Given the description of an element on the screen output the (x, y) to click on. 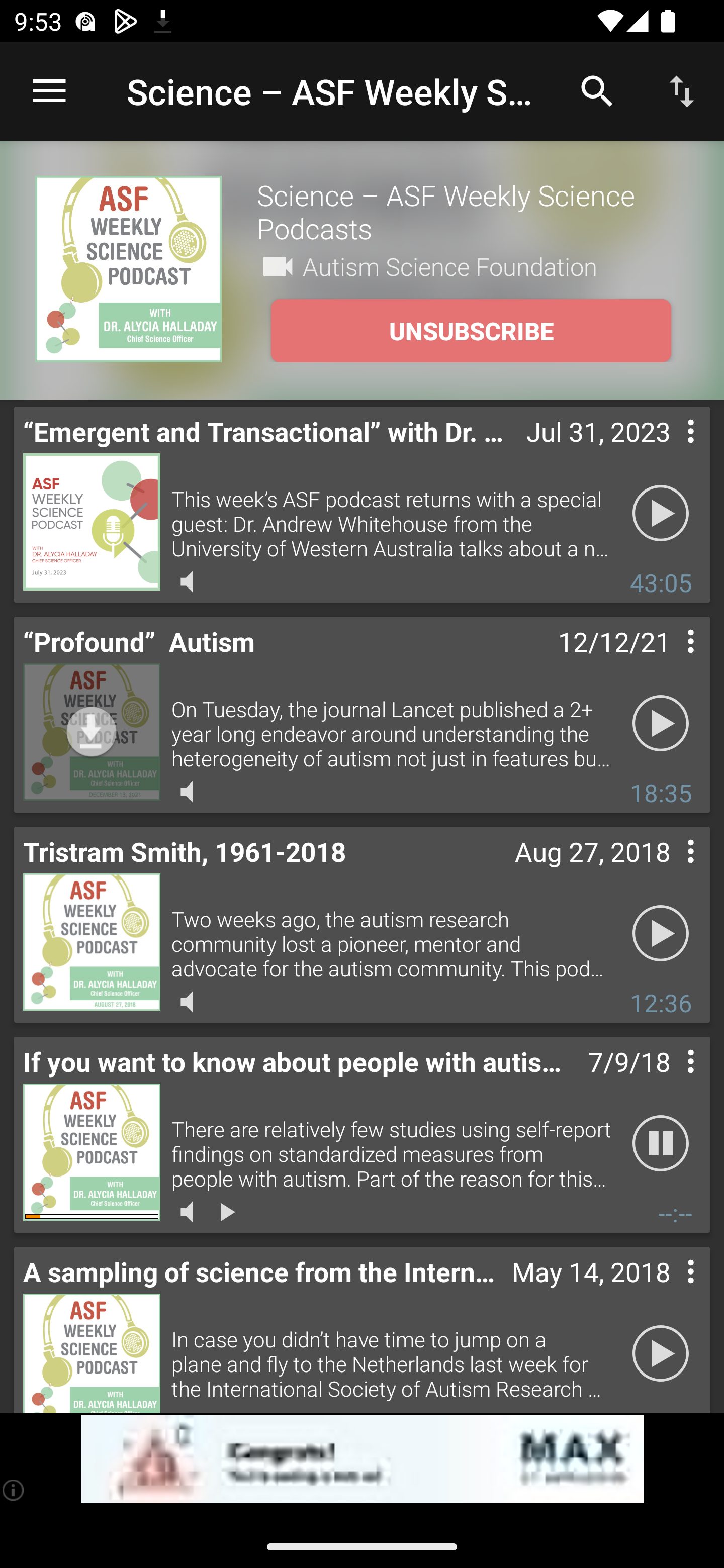
Open navigation sidebar (49, 91)
Search (597, 90)
Sort (681, 90)
UNSUBSCRIBE (470, 330)
Contextual menu (668, 451)
Play (660, 513)
Contextual menu (668, 661)
Play (660, 723)
Contextual menu (668, 870)
Play (660, 933)
Contextual menu (668, 1080)
Pause (660, 1143)
Contextual menu (668, 1290)
Play (660, 1353)
app-monetization (362, 1459)
(i) (14, 1489)
